Given the description of an element on the screen output the (x, y) to click on. 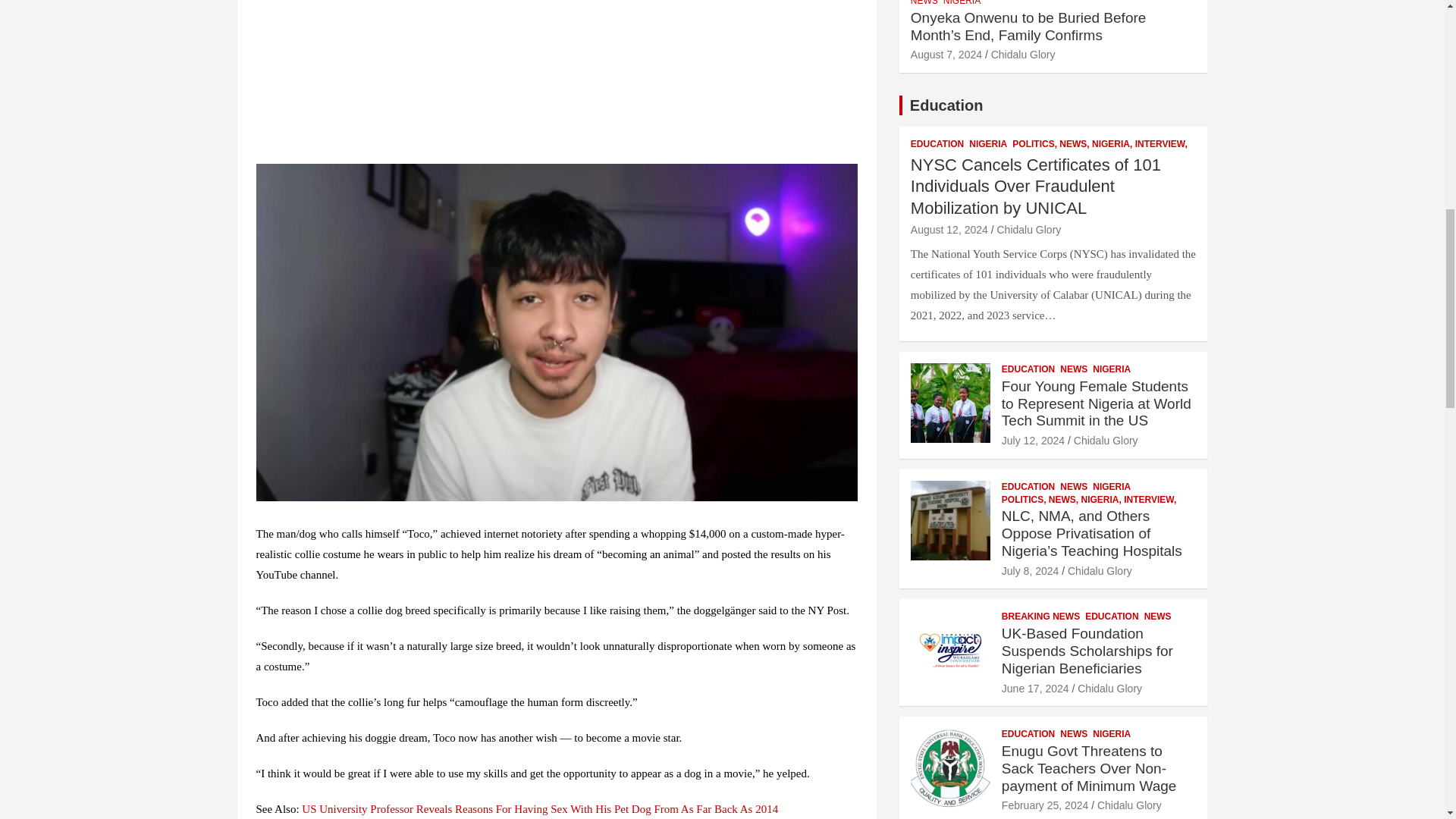
Advertisement (556, 79)
